Given the description of an element on the screen output the (x, y) to click on. 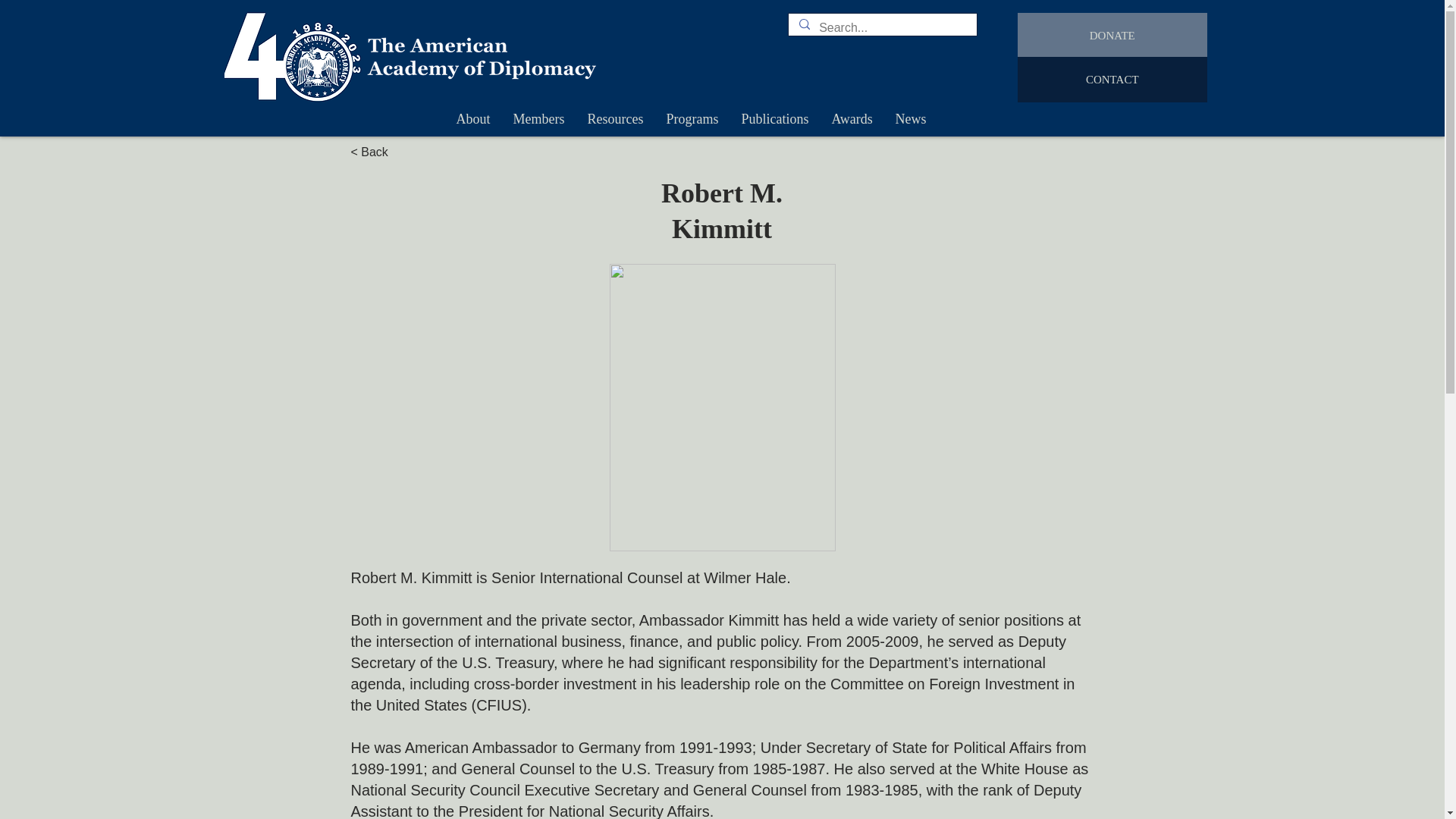
Publications (774, 118)
DONATE (1112, 35)
CONTACT (1112, 79)
About (472, 118)
Resources (615, 118)
Programs (692, 118)
Awards (852, 118)
Members (539, 118)
